Given the description of an element on the screen output the (x, y) to click on. 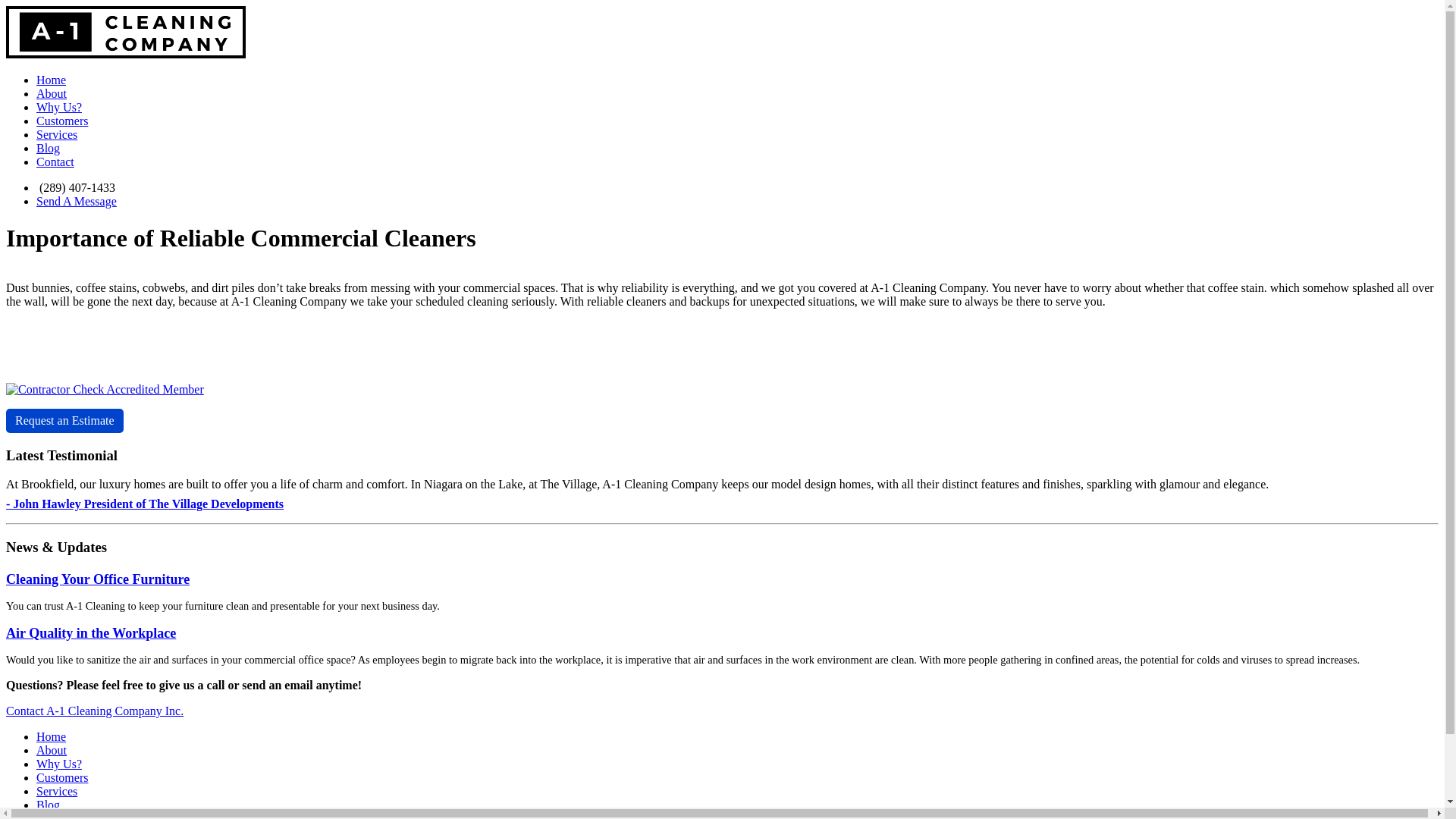
- John Hawley President of The Village Developments Element type: text (144, 503)
About Element type: text (51, 93)
Services Element type: text (56, 790)
Contact A-1 Cleaning Company Inc. Element type: text (94, 710)
Why Us? Element type: text (58, 106)
Customers Element type: text (61, 777)
Send A Message Element type: text (76, 200)
Contact Element type: text (55, 161)
Customers Element type: text (61, 120)
About Element type: text (51, 749)
Cleaning Your Office Furniture Element type: text (97, 578)
Home Element type: text (50, 79)
Air Quality in the Workplace Element type: text (90, 632)
Why Us? Element type: text (58, 763)
Request an Estimate Element type: text (64, 420)
Home Element type: text (50, 736)
Blog Element type: text (47, 804)
Contractor Check Accredited Member Element type: hover (104, 388)
Services Element type: text (56, 134)
Blog Element type: text (47, 147)
